Given the description of an element on the screen output the (x, y) to click on. 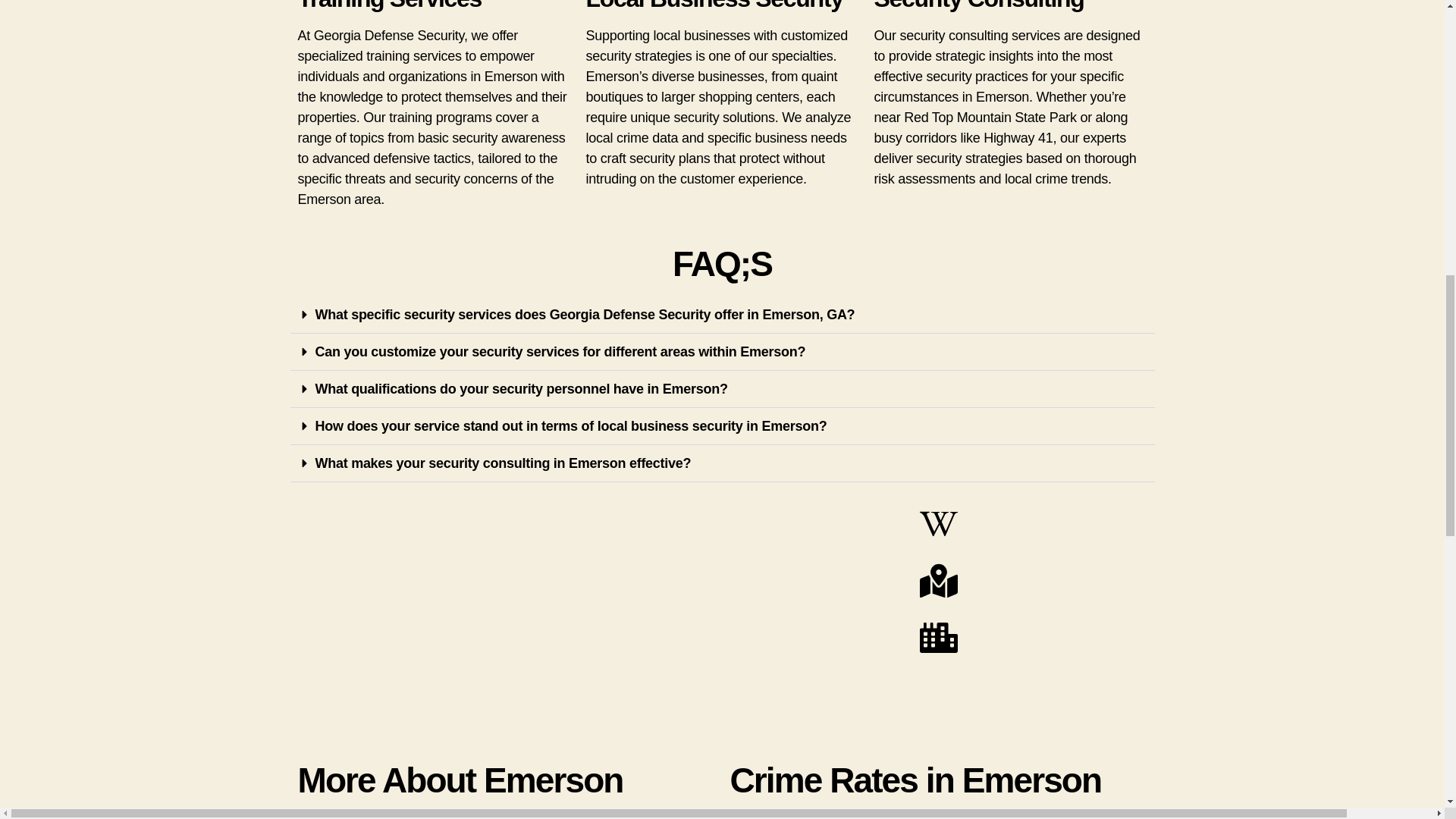
What makes your security consulting in Emerson effective? (503, 462)
Emerson, ga (505, 618)
